Given the description of an element on the screen output the (x, y) to click on. 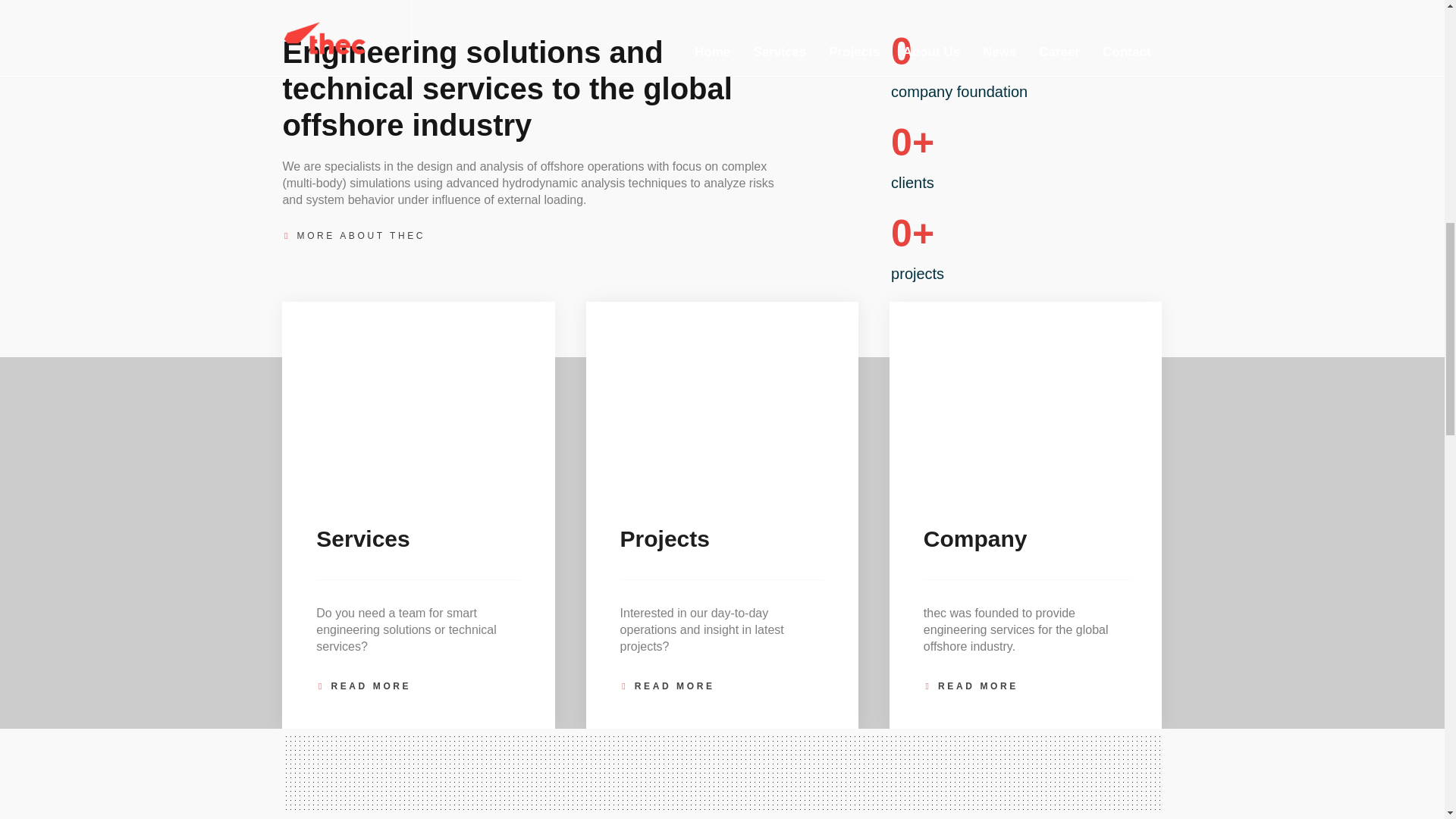
READ MORE (970, 685)
READ MORE (667, 685)
READ MORE (362, 685)
MORE ABOUT THEC (353, 235)
